Given the description of an element on the screen output the (x, y) to click on. 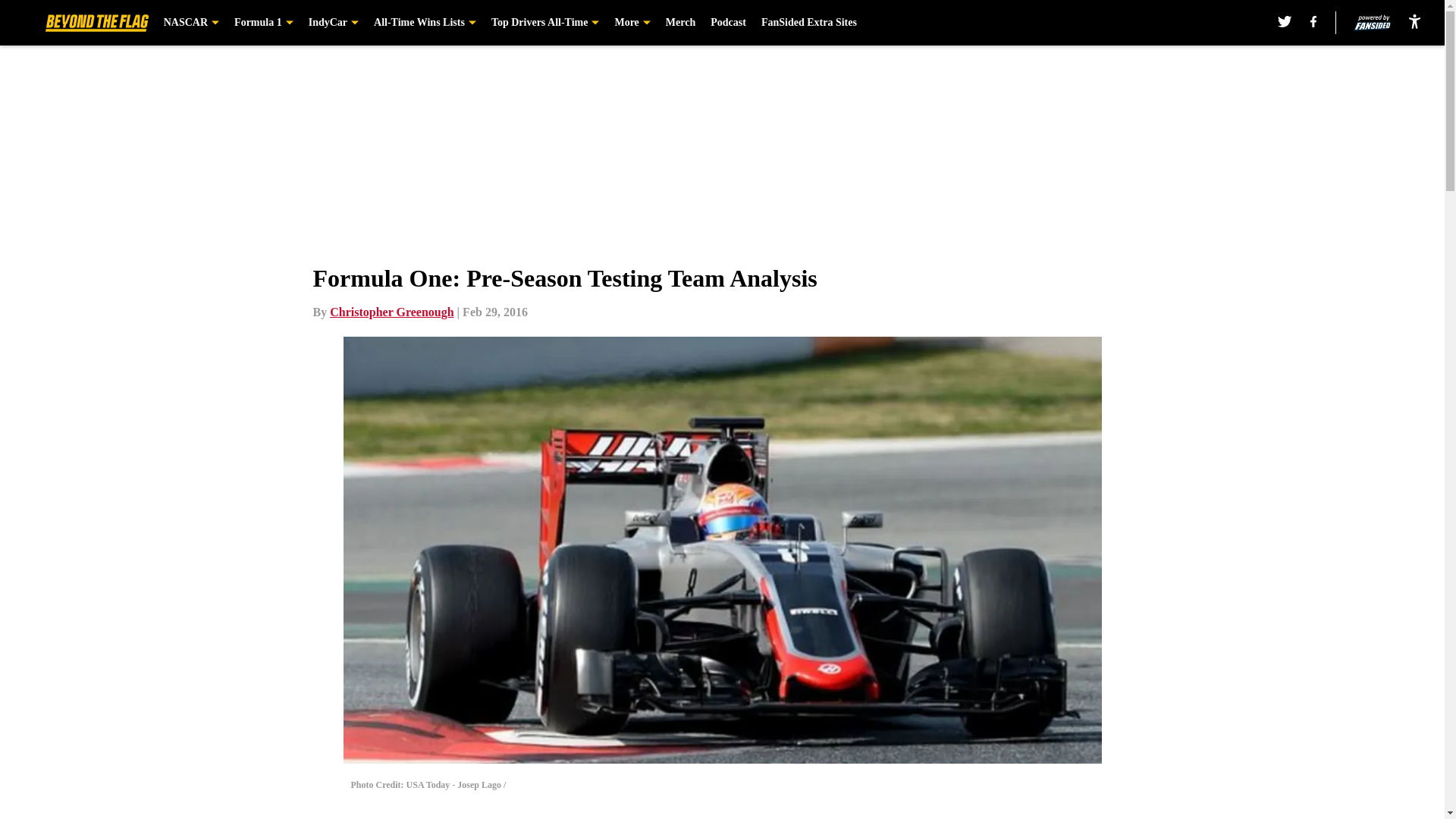
Merch (680, 22)
FanSided Extra Sites (809, 22)
Podcast (727, 22)
Christopher Greenough (391, 311)
